Given the description of an element on the screen output the (x, y) to click on. 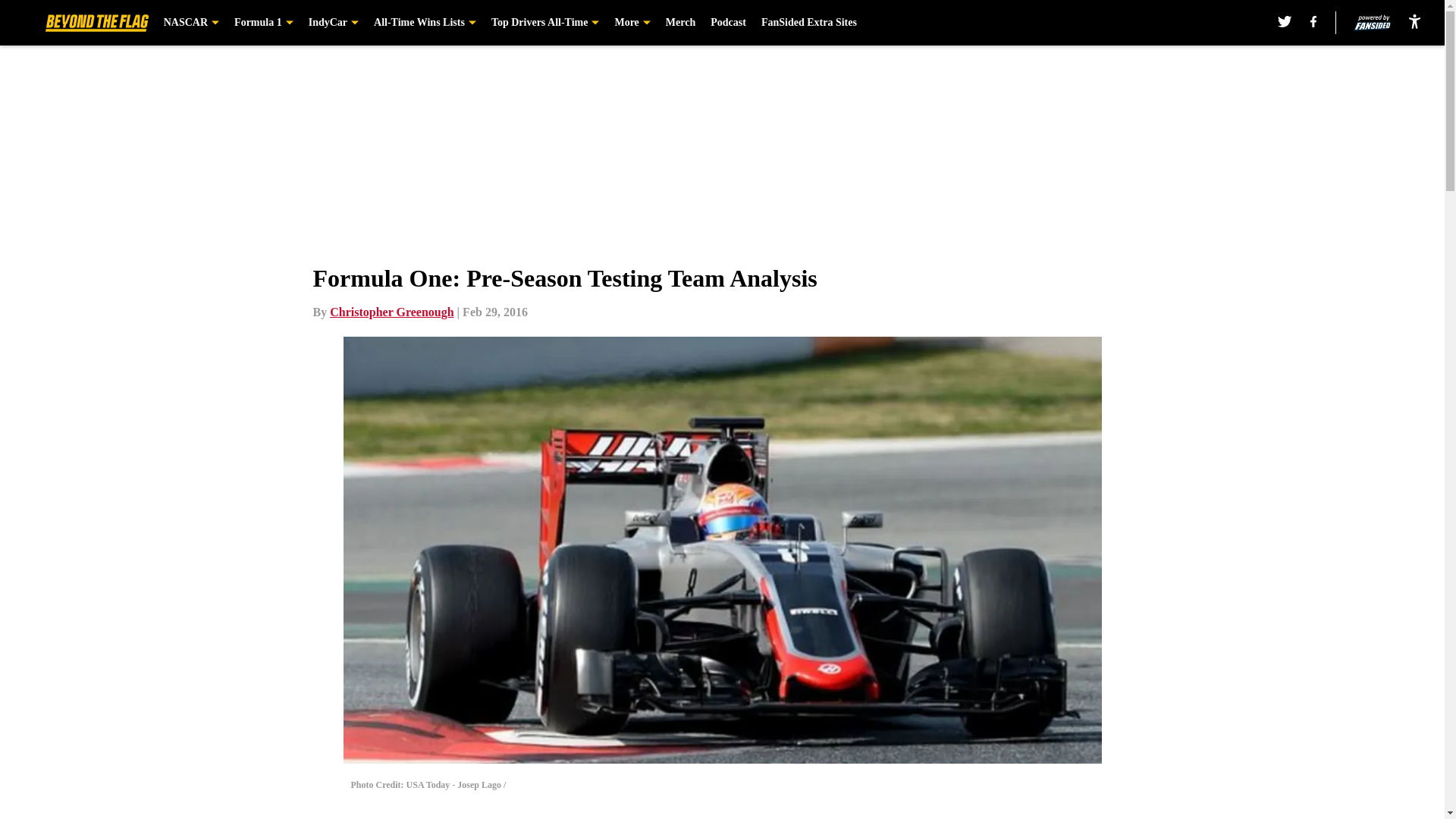
Merch (680, 22)
FanSided Extra Sites (809, 22)
Podcast (727, 22)
Christopher Greenough (391, 311)
